Given the description of an element on the screen output the (x, y) to click on. 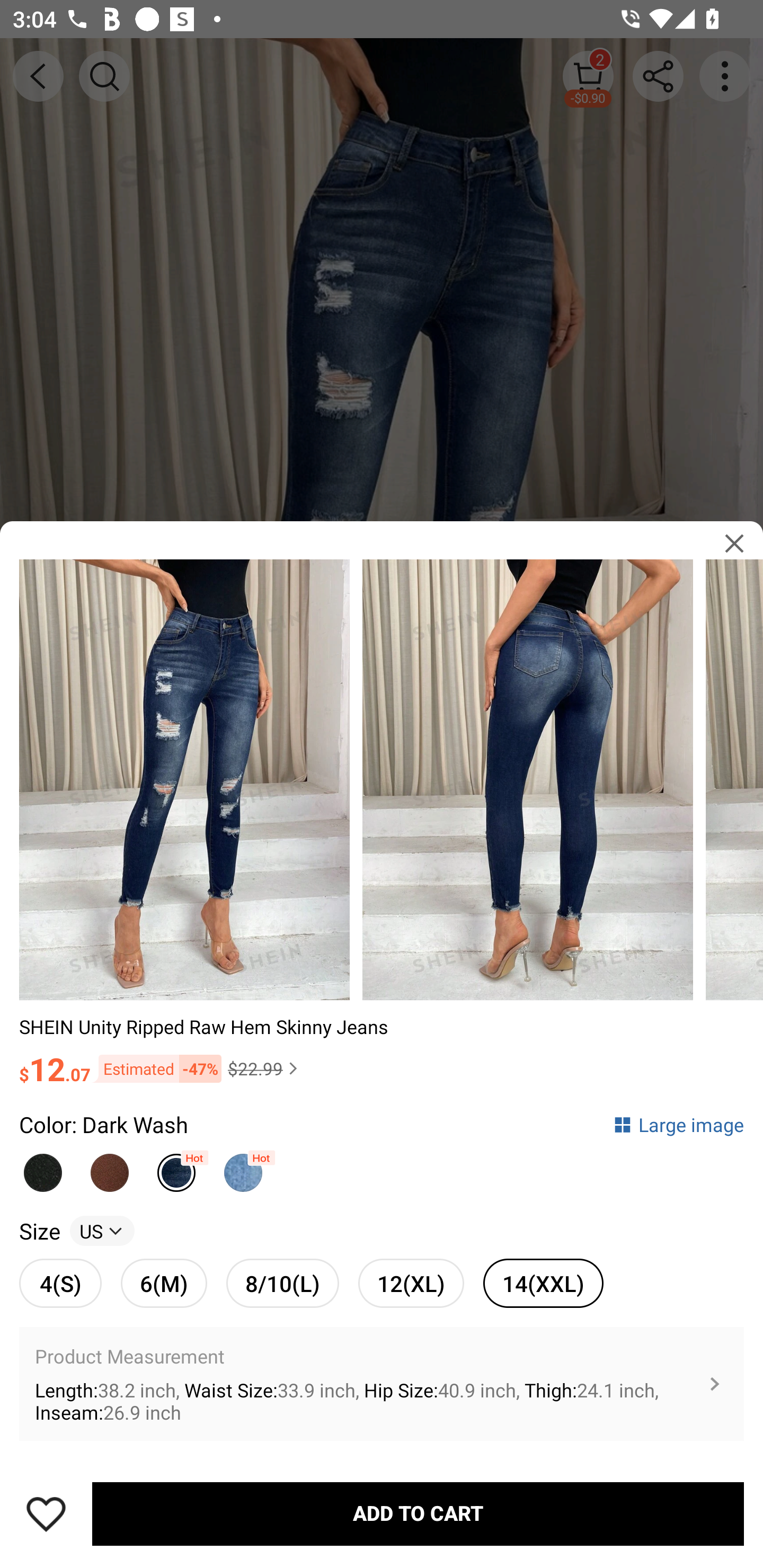
Estimated -47% (155, 1069)
$22.99 (265, 1068)
Color: Dark Wash (103, 1123)
Large image (677, 1123)
Black (42, 1167)
Coffee Brown (109, 1167)
Dark Wash (176, 1167)
Light Wash (242, 1167)
Size (39, 1230)
US (102, 1230)
4(S) 4(S)unselected option (60, 1283)
6(M) 6(M)unselected option (163, 1283)
8/10(L) 8/10(L)unselected option (282, 1283)
12(XL) 12(XL)unselected option (410, 1283)
14(XXL) 14(XXL)selected option (542, 1283)
ADD TO CART (417, 1513)
Save (46, 1513)
